Given the description of an element on the screen output the (x, y) to click on. 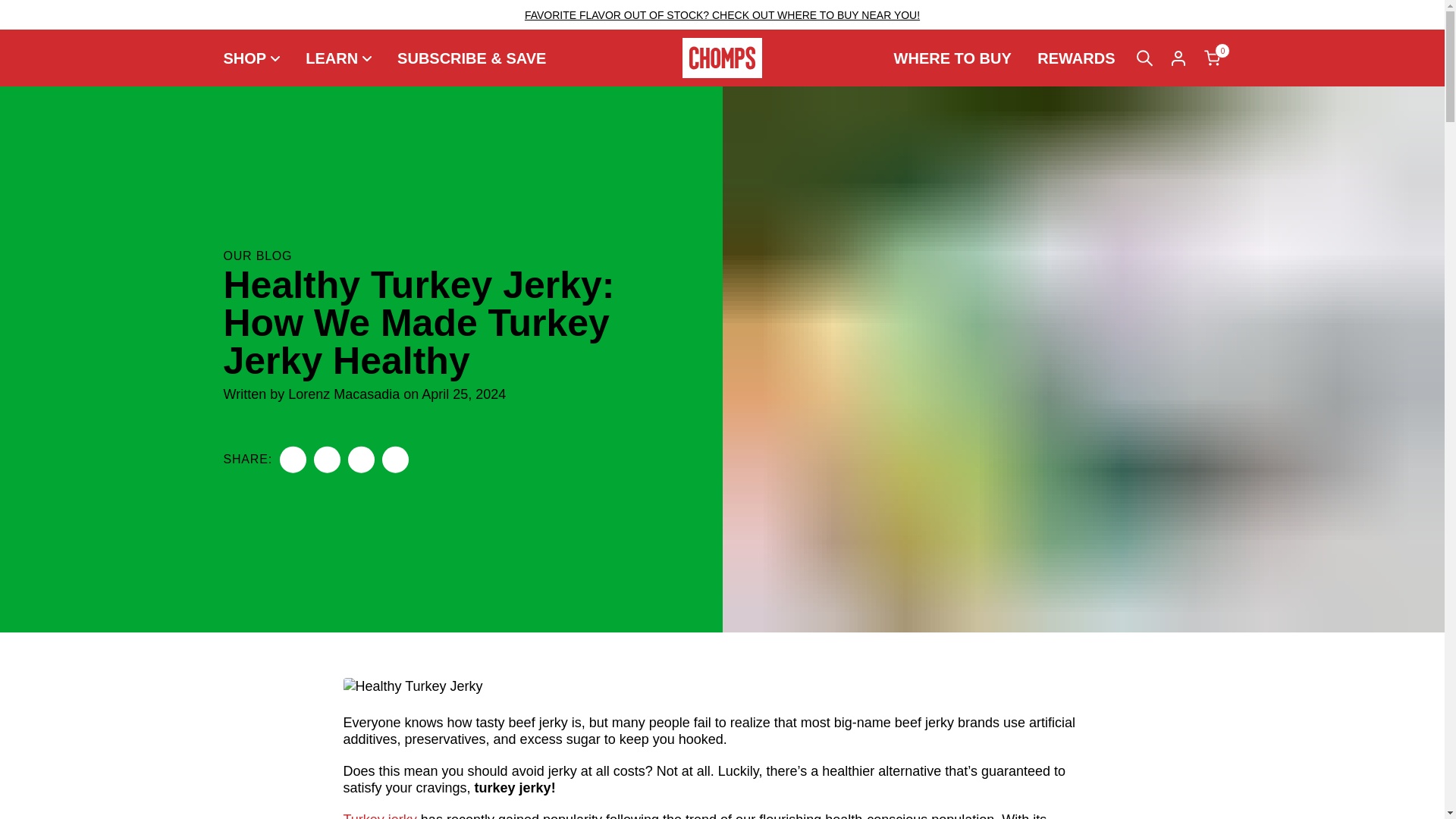
Chomps  Logo (721, 57)
Where to buy (952, 57)
Rewards (1075, 57)
SHOP (255, 57)
Account (1178, 57)
